Given the description of an element on the screen output the (x, y) to click on. 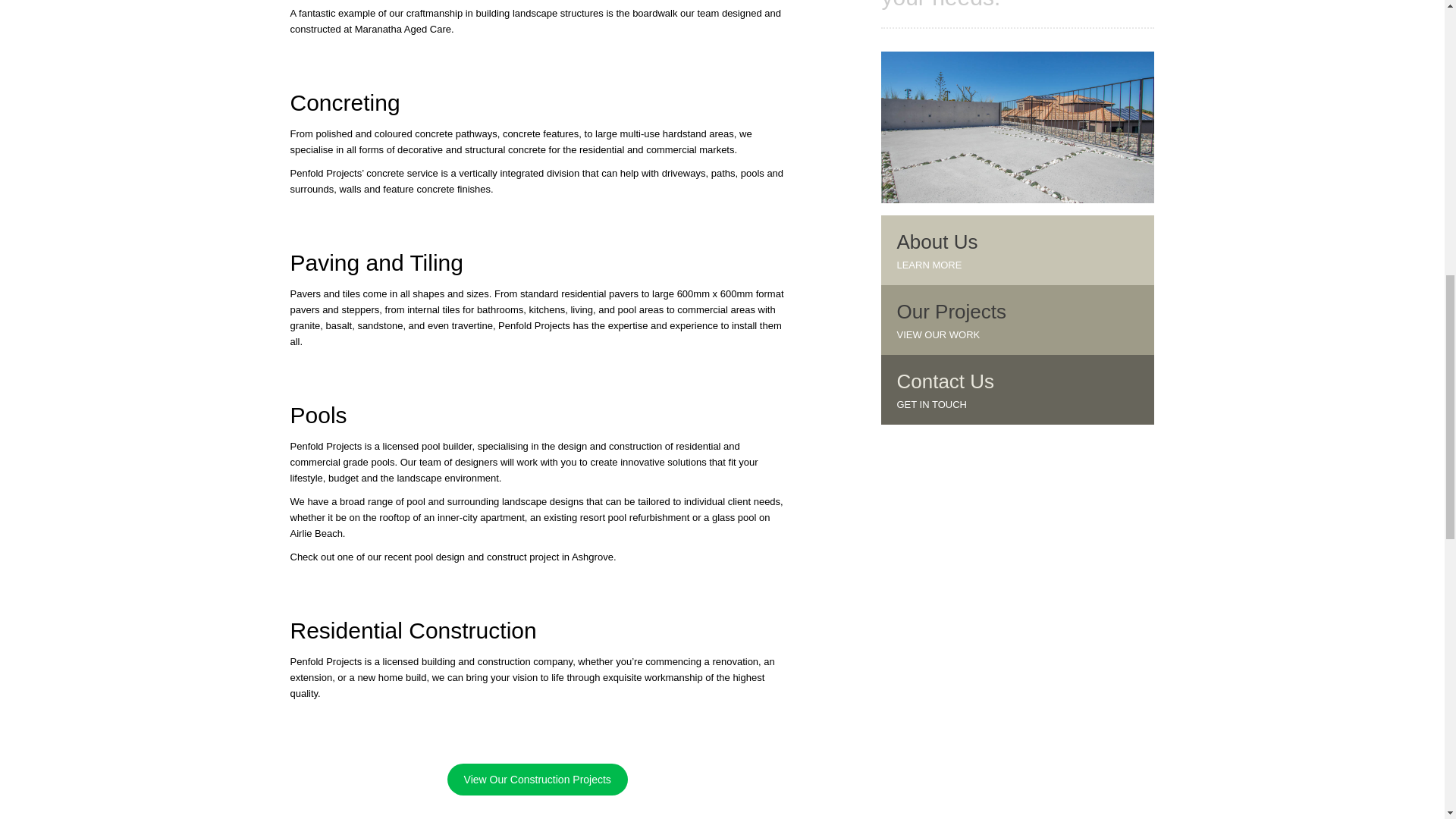
Ashgrove (592, 556)
Maranatha Aged Care (403, 29)
View Our Construction Projects (536, 779)
